Given the description of an element on the screen output the (x, y) to click on. 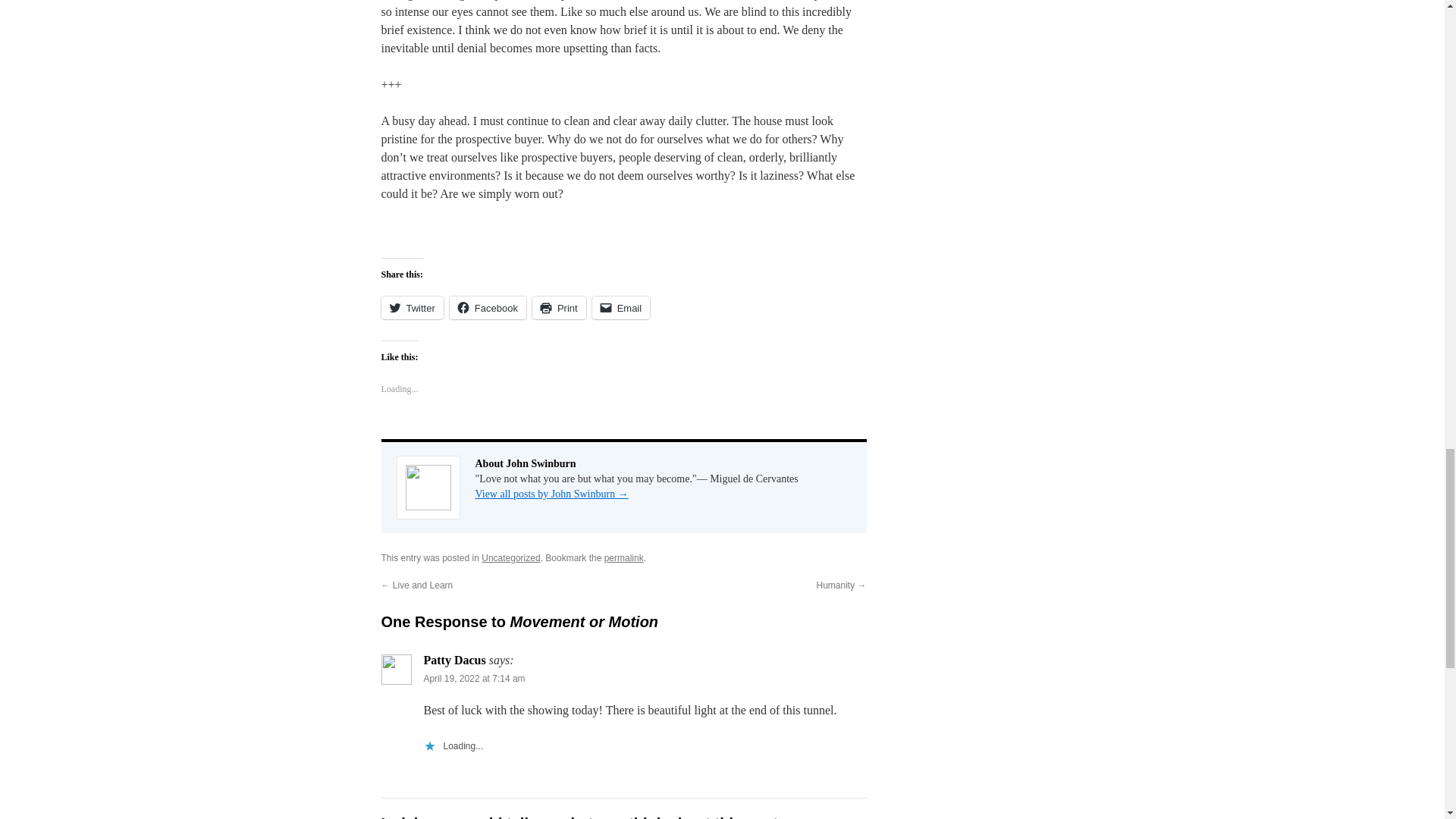
April 19, 2022 at 7:14 am (473, 678)
Click to share on Twitter (411, 307)
Twitter (411, 307)
Email (621, 307)
permalink (623, 557)
Print (559, 307)
Click to share on Facebook (487, 307)
Permalink to Movement or Motion (623, 557)
Click to email a link to a friend (621, 307)
Uncategorized (510, 557)
Facebook (487, 307)
Click to print (559, 307)
